Given the description of an element on the screen output the (x, y) to click on. 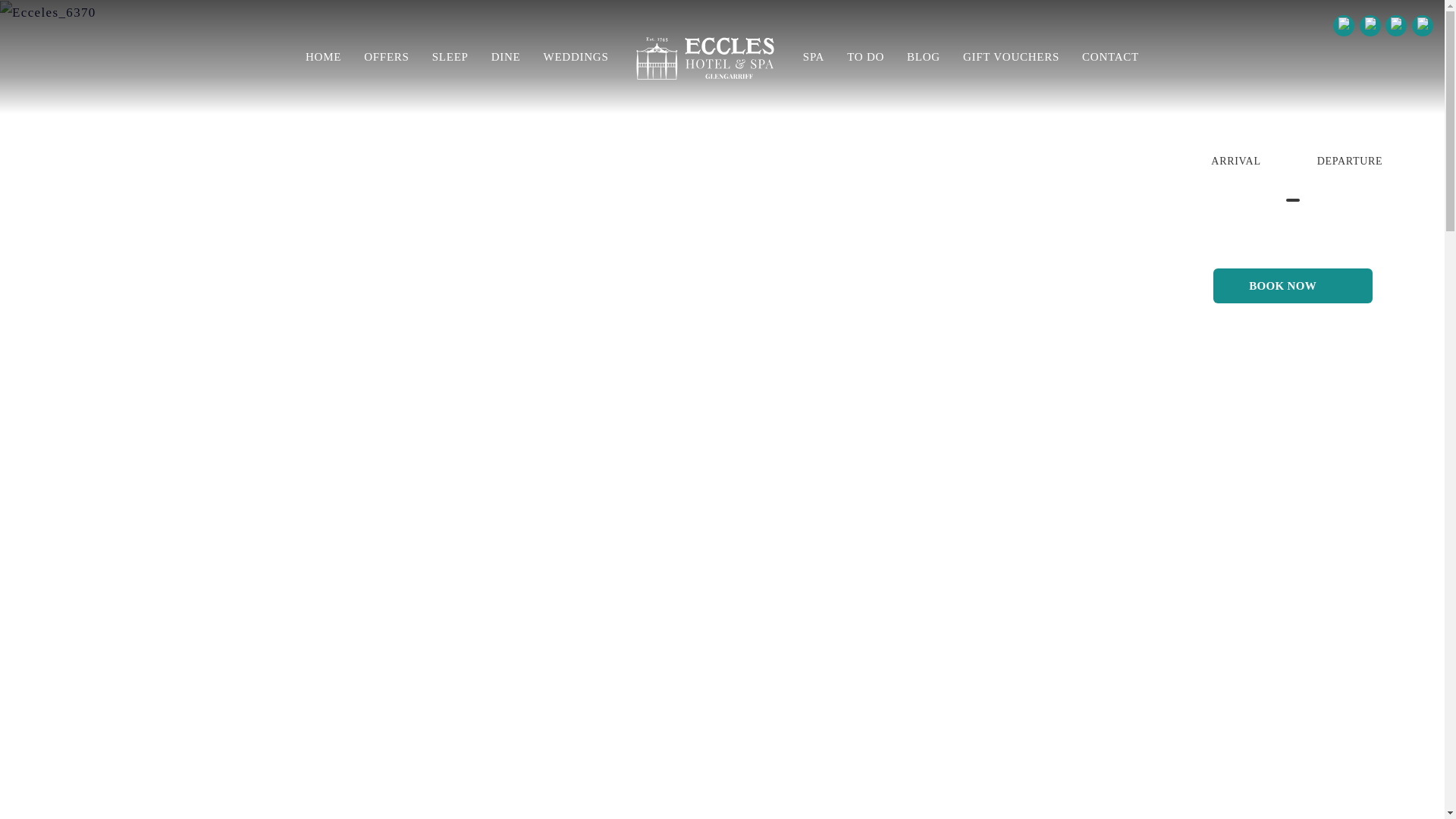
OFFERS (386, 56)
WEDDINGS (575, 56)
DINE (506, 56)
Follow us on Facebook (1369, 25)
Trip Advisor (1343, 25)
The Eccles Hotel (705, 56)
SLEEP (450, 56)
Follow us on Instagram (1422, 25)
SPA (813, 56)
HOME (323, 56)
